Given the description of an element on the screen output the (x, y) to click on. 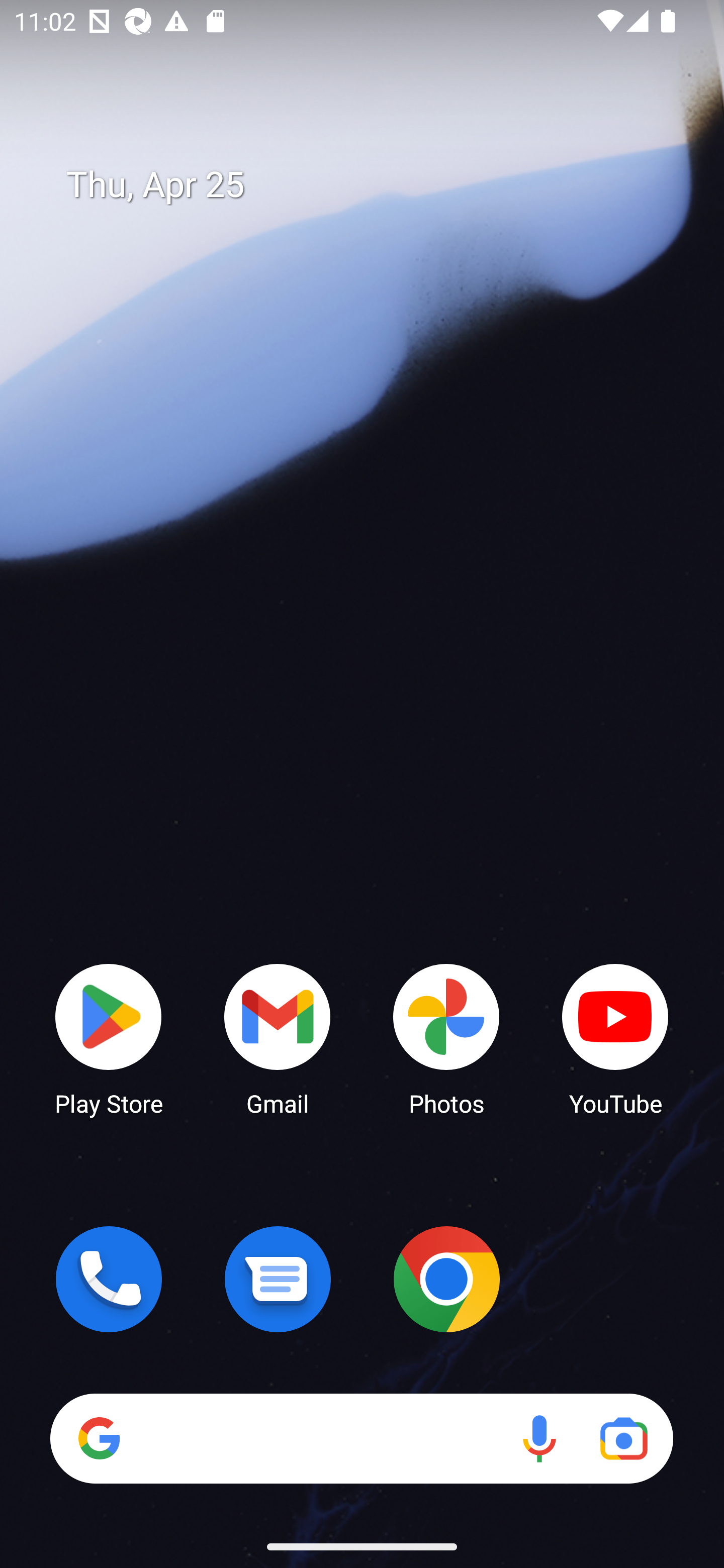
Thu, Apr 25 (375, 184)
Play Store (108, 1038)
Gmail (277, 1038)
Photos (445, 1038)
YouTube (615, 1038)
Phone (108, 1279)
Messages (277, 1279)
Chrome (446, 1279)
Search Voice search Google Lens (361, 1438)
Voice search (539, 1438)
Google Lens (623, 1438)
